Given the description of an element on the screen output the (x, y) to click on. 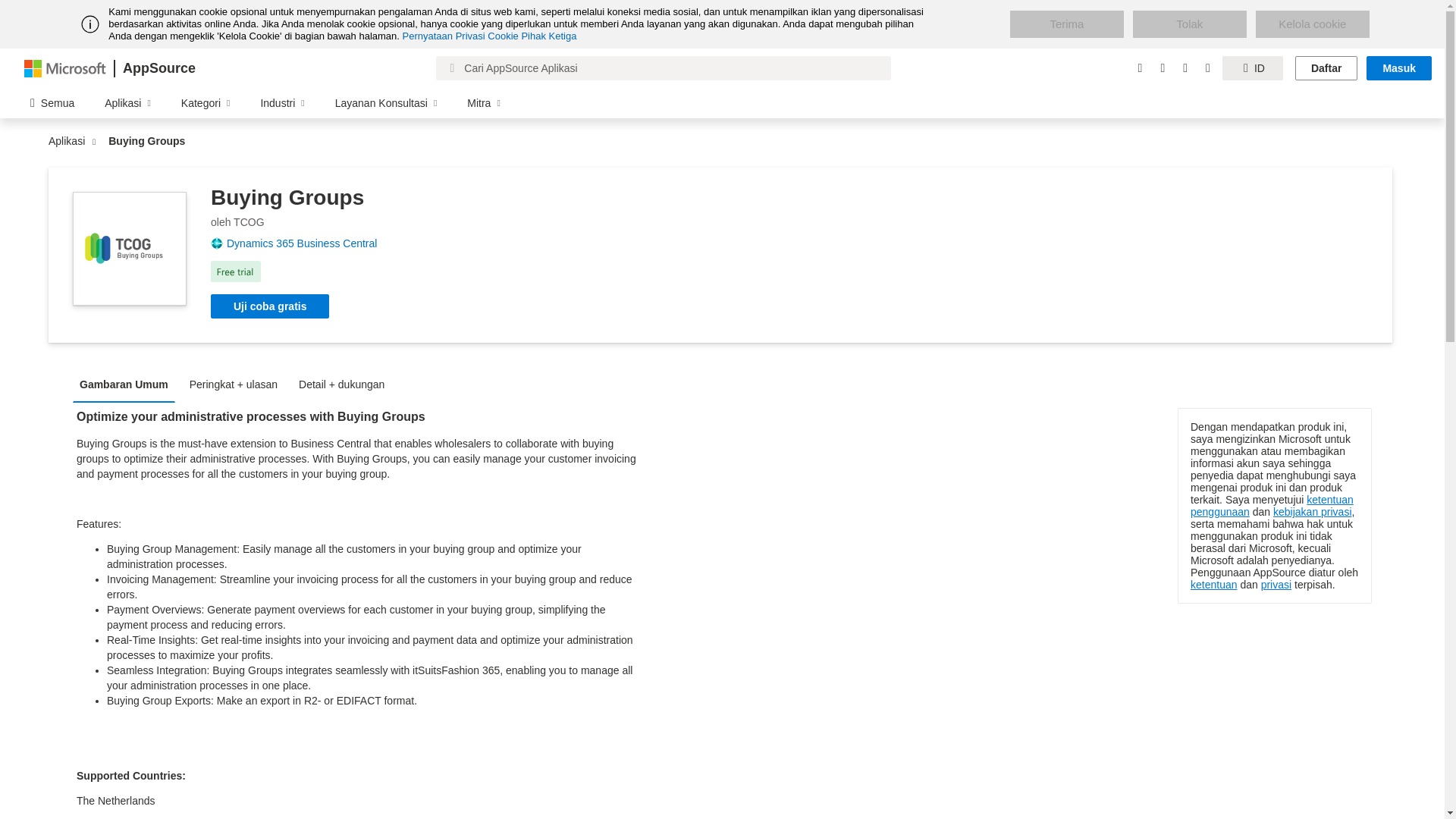
Dynamics 365 Business Central (307, 243)
Gambaran Umum (127, 383)
Dynamics 365 Business Central (307, 243)
AppSource (158, 67)
Microsoft (65, 67)
Daftar (1325, 68)
Aplikasi (70, 141)
Terima (1067, 23)
kebijakan privasi (1312, 511)
Pernyataan Privasi (443, 35)
Kelola cookie (1312, 23)
Uji coba gratis (270, 306)
Cookie Pihak Ketiga (531, 35)
ketentuan penggunaan (1272, 505)
Masuk (1399, 68)
